Given the description of an element on the screen output the (x, y) to click on. 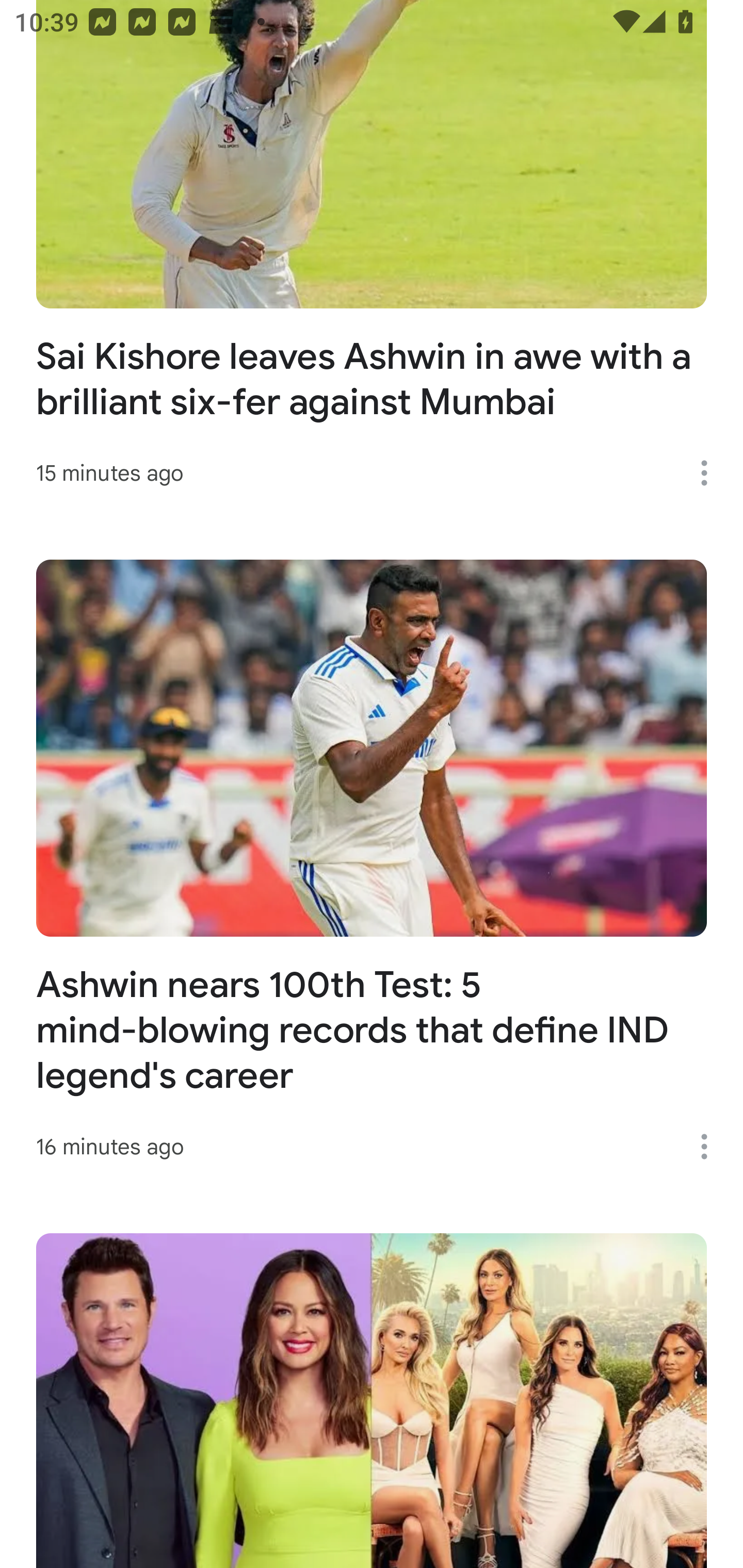
More options (711, 472)
More options (711, 1146)
